Given the description of an element on the screen output the (x, y) to click on. 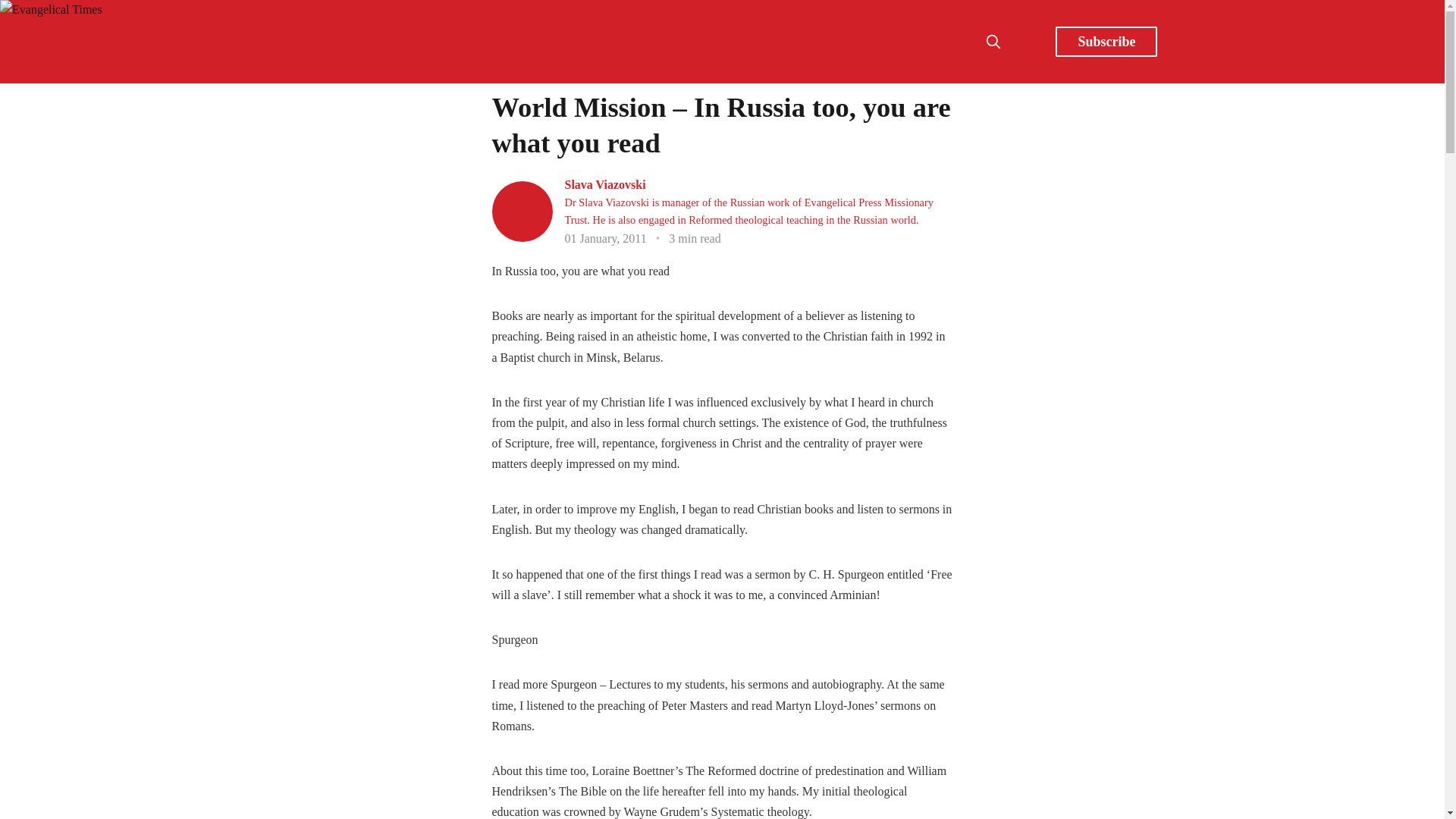
Slava Viazovski (604, 184)
Open Menu (1026, 41)
Subscribe (1106, 41)
